Given the description of an element on the screen output the (x, y) to click on. 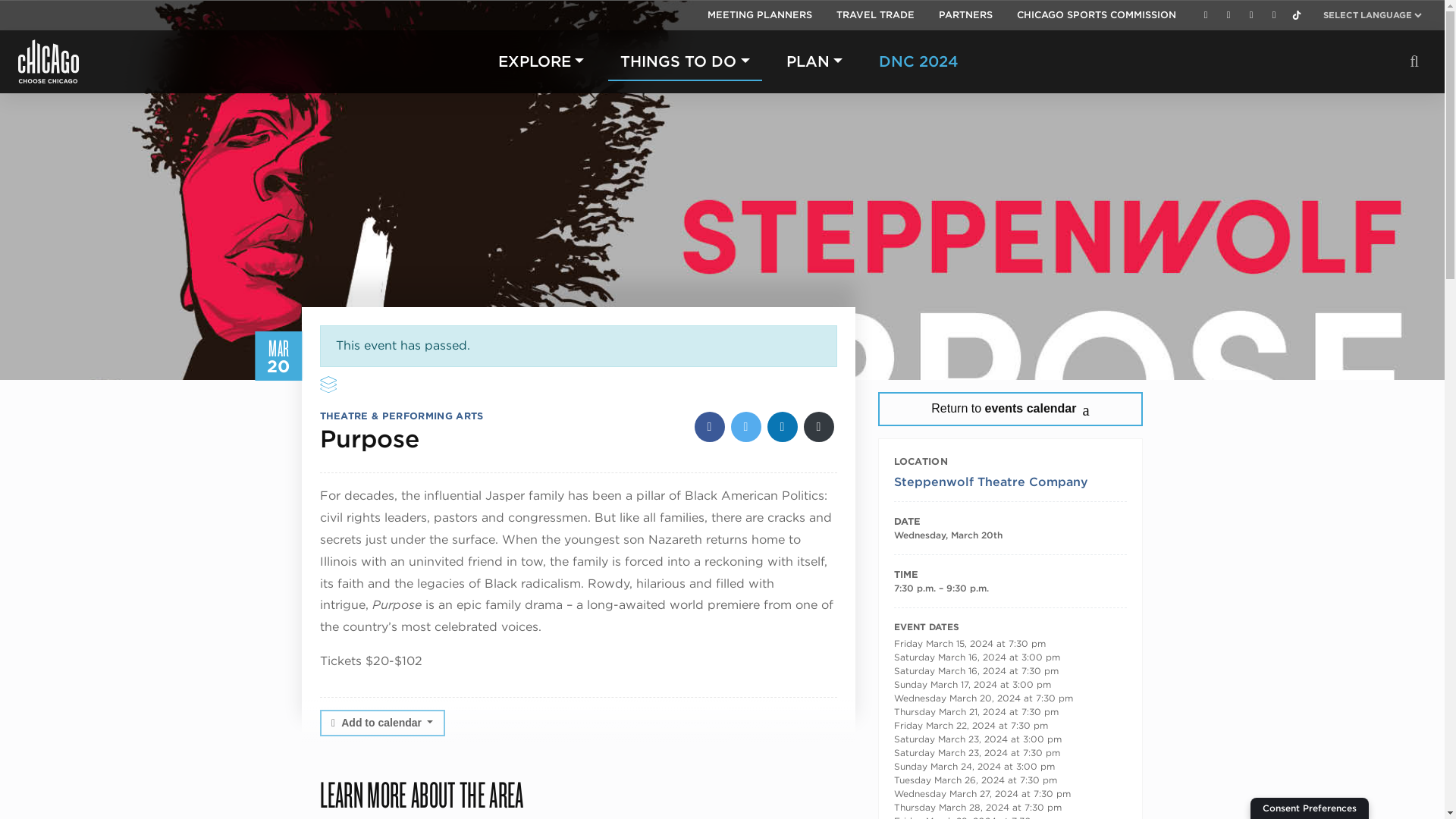
Share on Facebook (709, 426)
Email a friend (818, 426)
EXPLORE (540, 61)
2024-03-20 (947, 534)
2024-03-20 (1009, 588)
This event is one of many from this series (328, 384)
Share on LinkedIn (782, 426)
Share on Twitter (745, 426)
THINGS TO DO (684, 61)
